Given the description of an element on the screen output the (x, y) to click on. 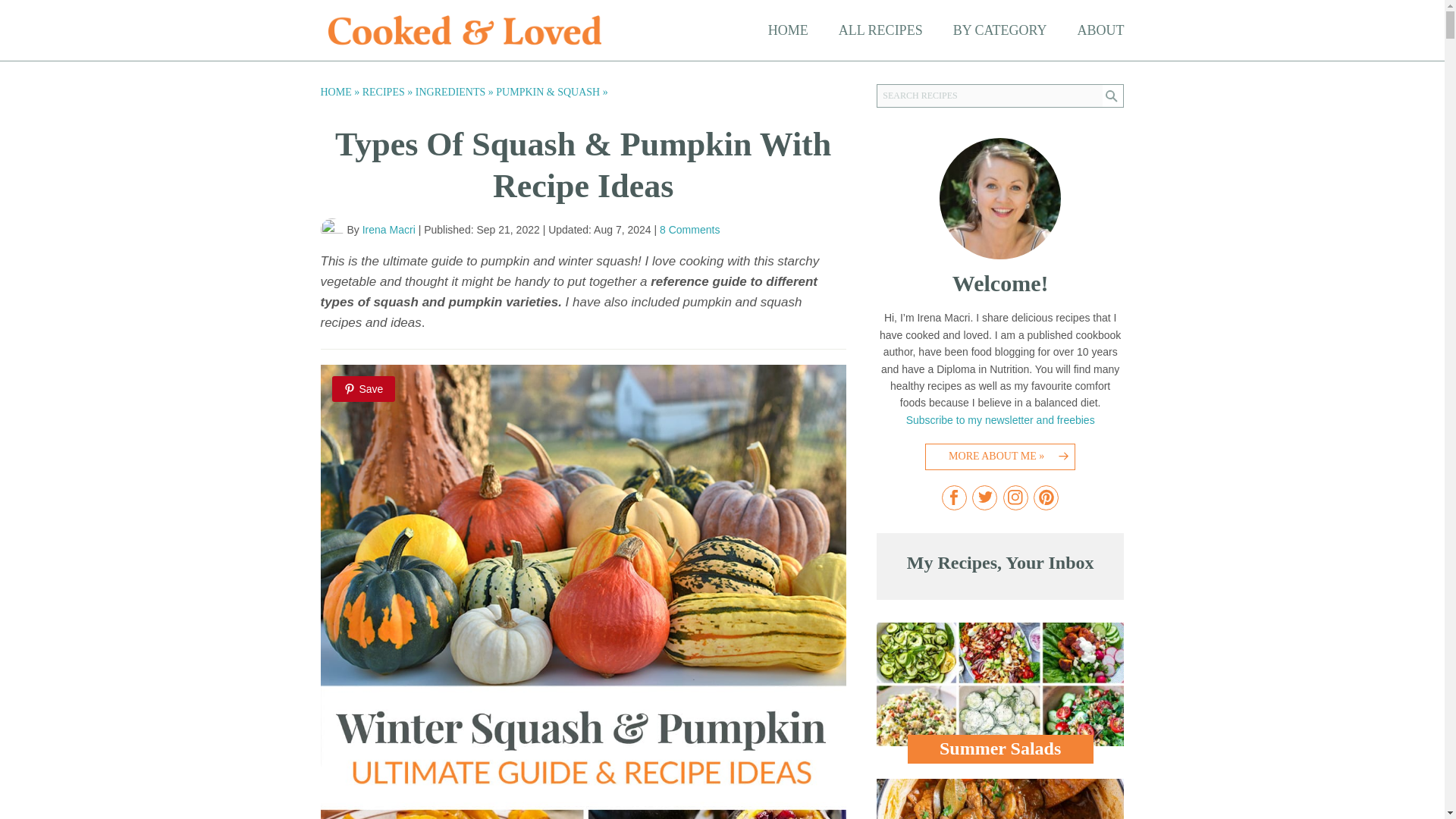
View Instagram profile (1015, 497)
Search (1113, 96)
Summer Salads (1000, 692)
View Twitter profile (984, 497)
View Pinterest profile (1045, 497)
HOME (788, 29)
View Facebook profile (954, 497)
BY CATEGORY (999, 29)
ALL RECIPES (880, 29)
